Given the description of an element on the screen output the (x, y) to click on. 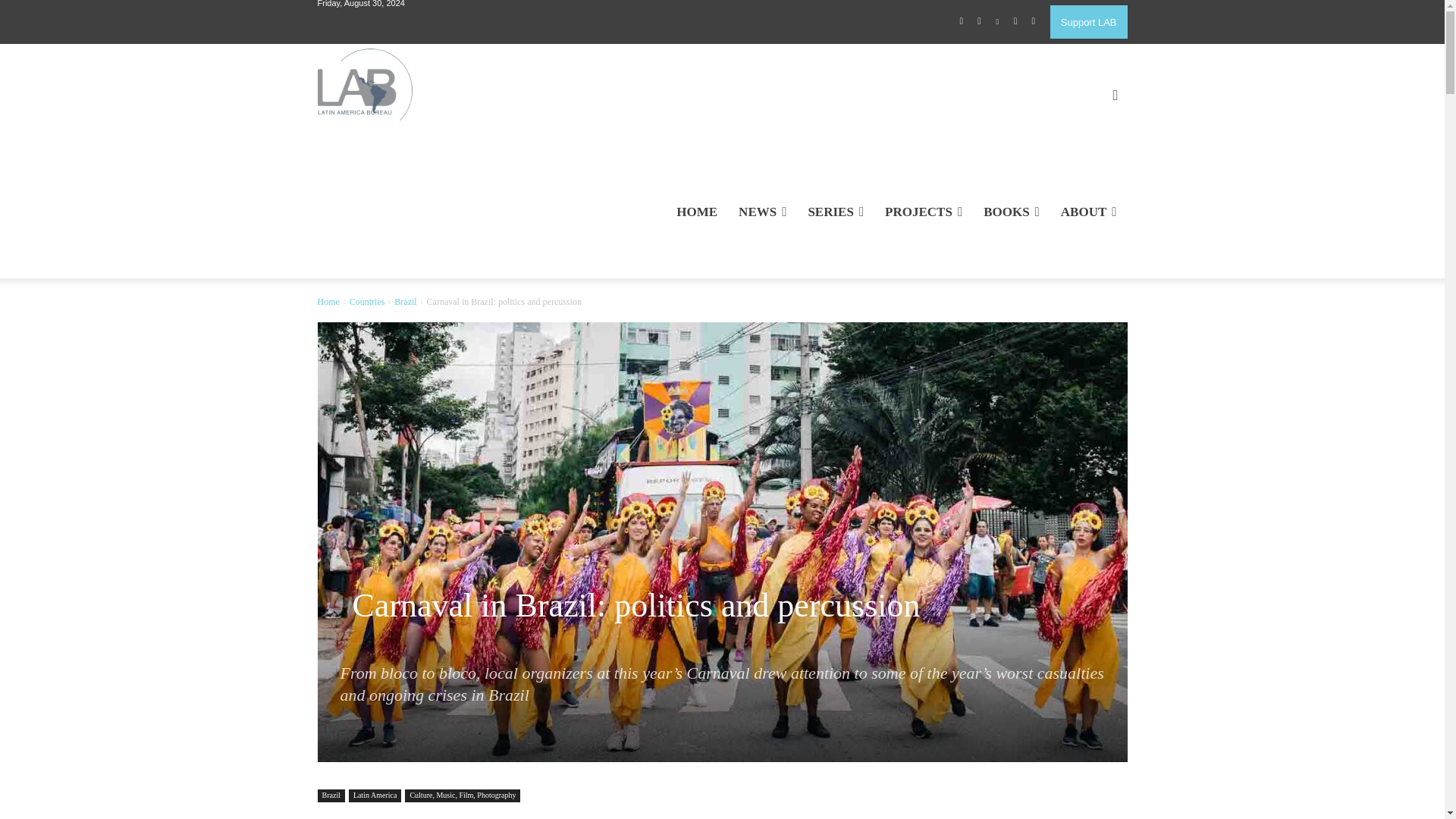
Linkedin (997, 22)
Twitter (1015, 22)
Facebook (961, 22)
Youtube (1033, 22)
Instagram (979, 22)
